Given the description of an element on the screen output the (x, y) to click on. 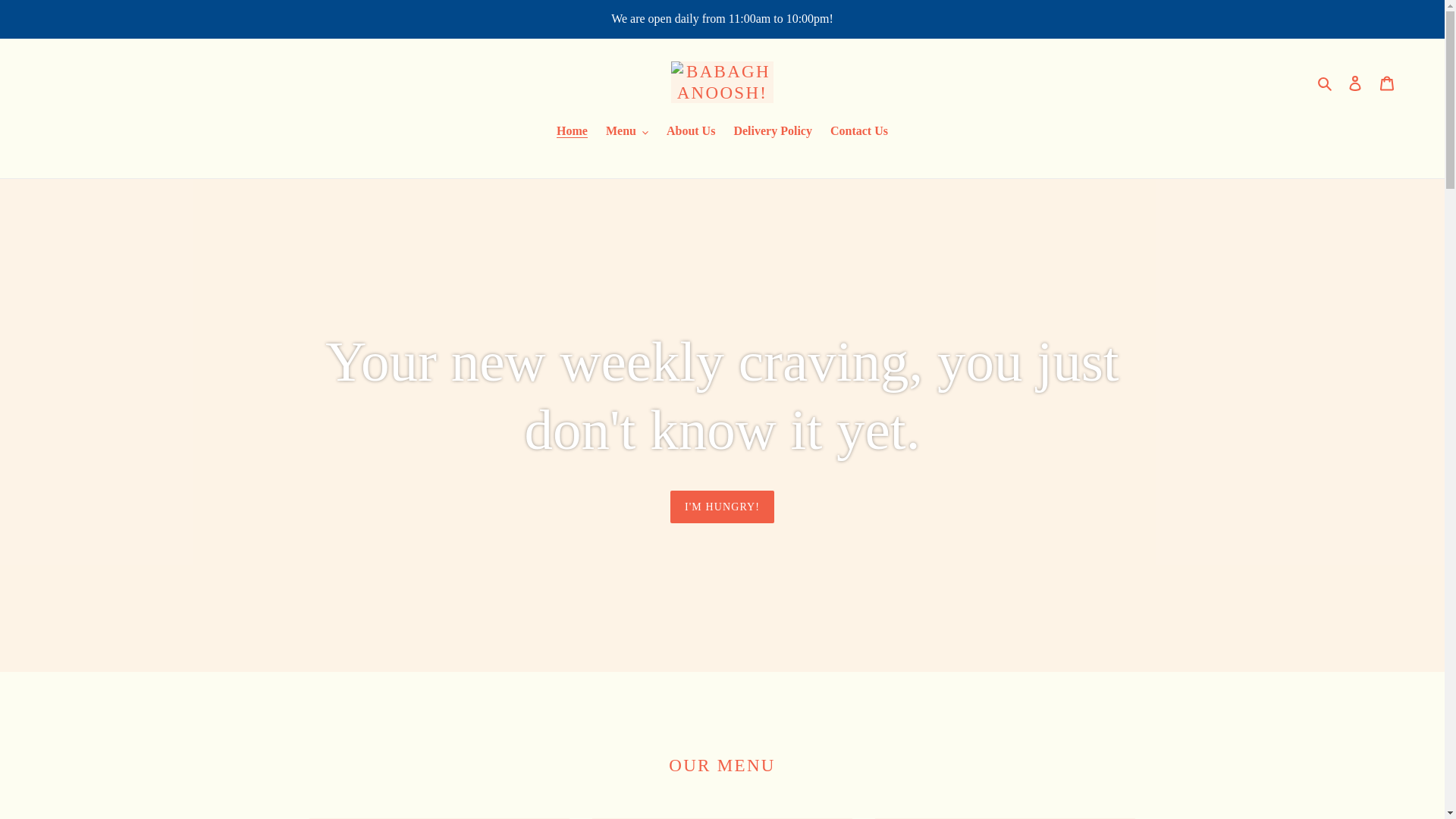
Log in (1355, 82)
Cart (1387, 82)
Home (571, 132)
Menu (627, 132)
Search (1326, 82)
